Given the description of an element on the screen output the (x, y) to click on. 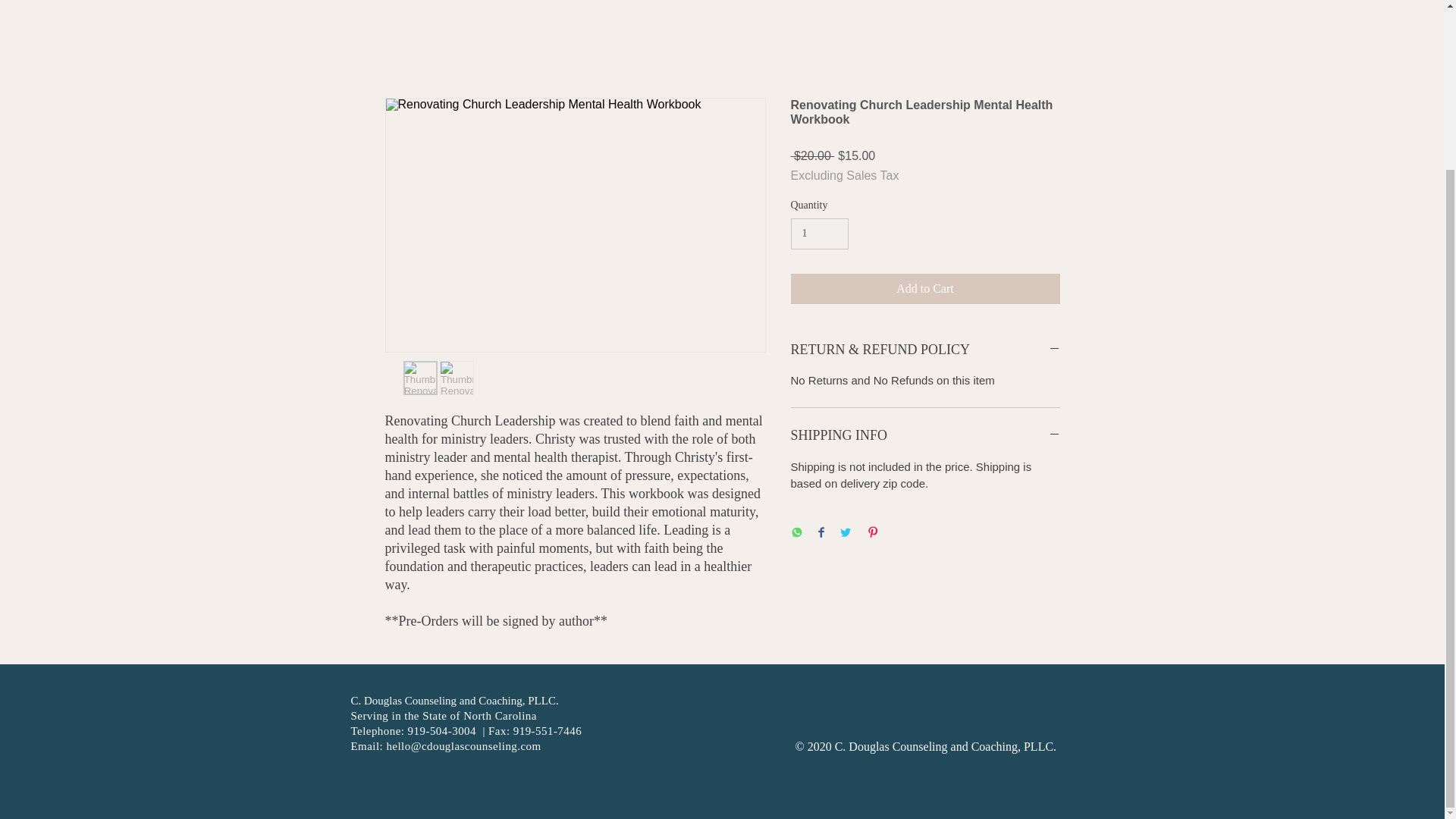
SHIPPING INFO (924, 435)
Add to Cart (924, 288)
1 (818, 233)
